Given the description of an element on the screen output the (x, y) to click on. 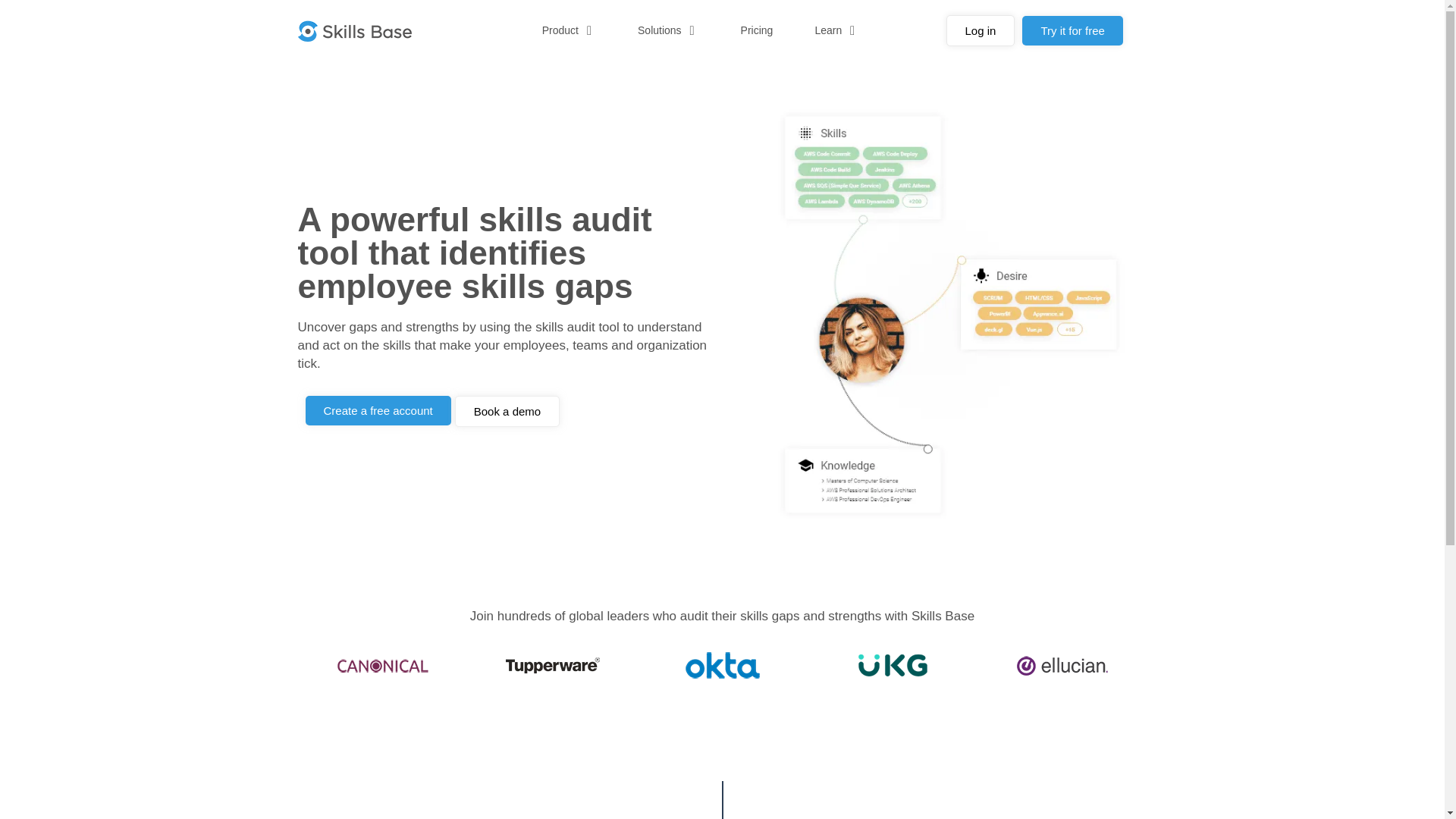
Pricing (757, 31)
Solutions (659, 31)
Product (559, 31)
Learn (827, 31)
